Given the description of an element on the screen output the (x, y) to click on. 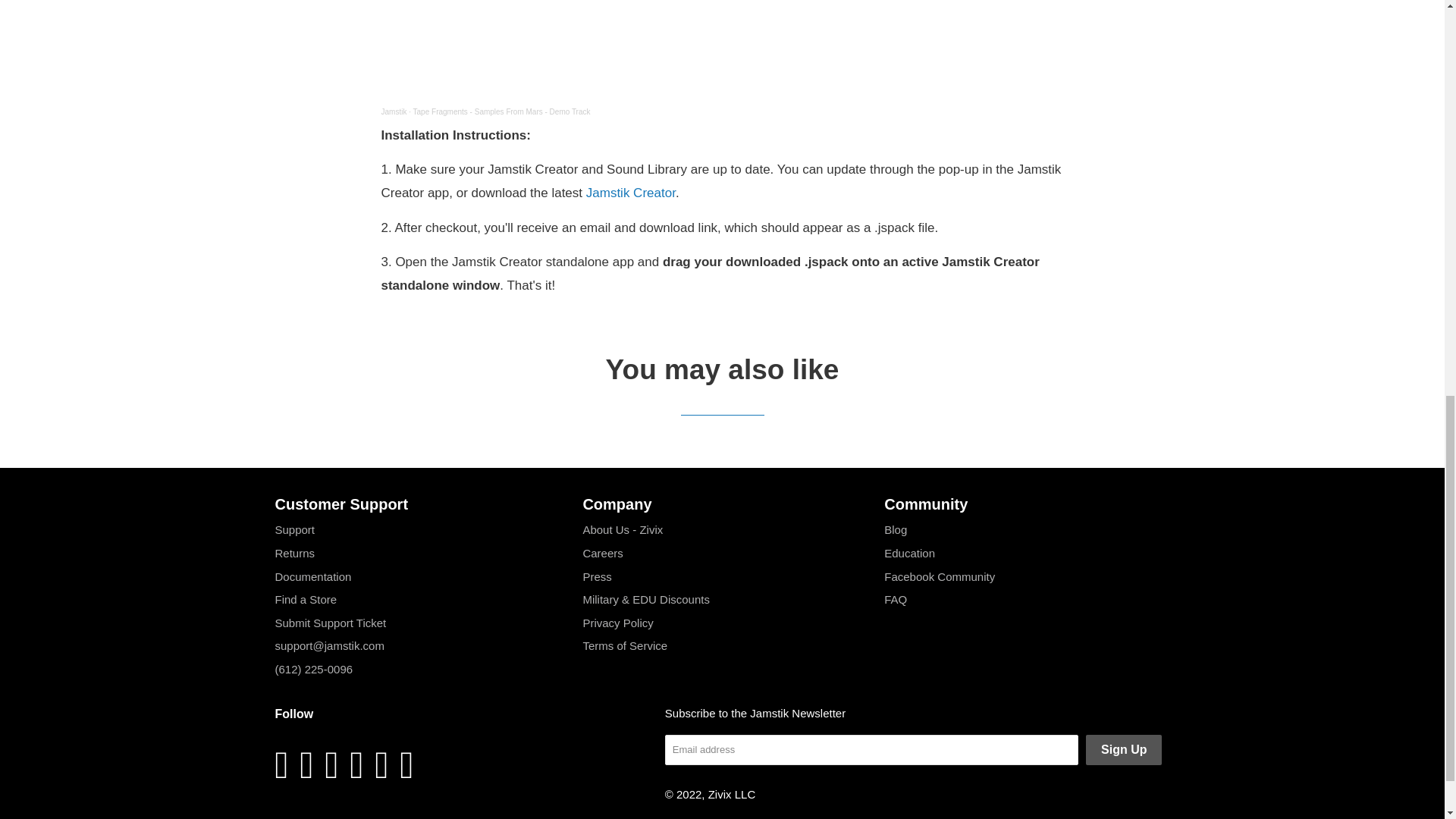
Tape Fragments - Samples From Mars - Demo Track (502, 111)
Sign Up (1123, 749)
Jamstik (393, 111)
